Given the description of an element on the screen output the (x, y) to click on. 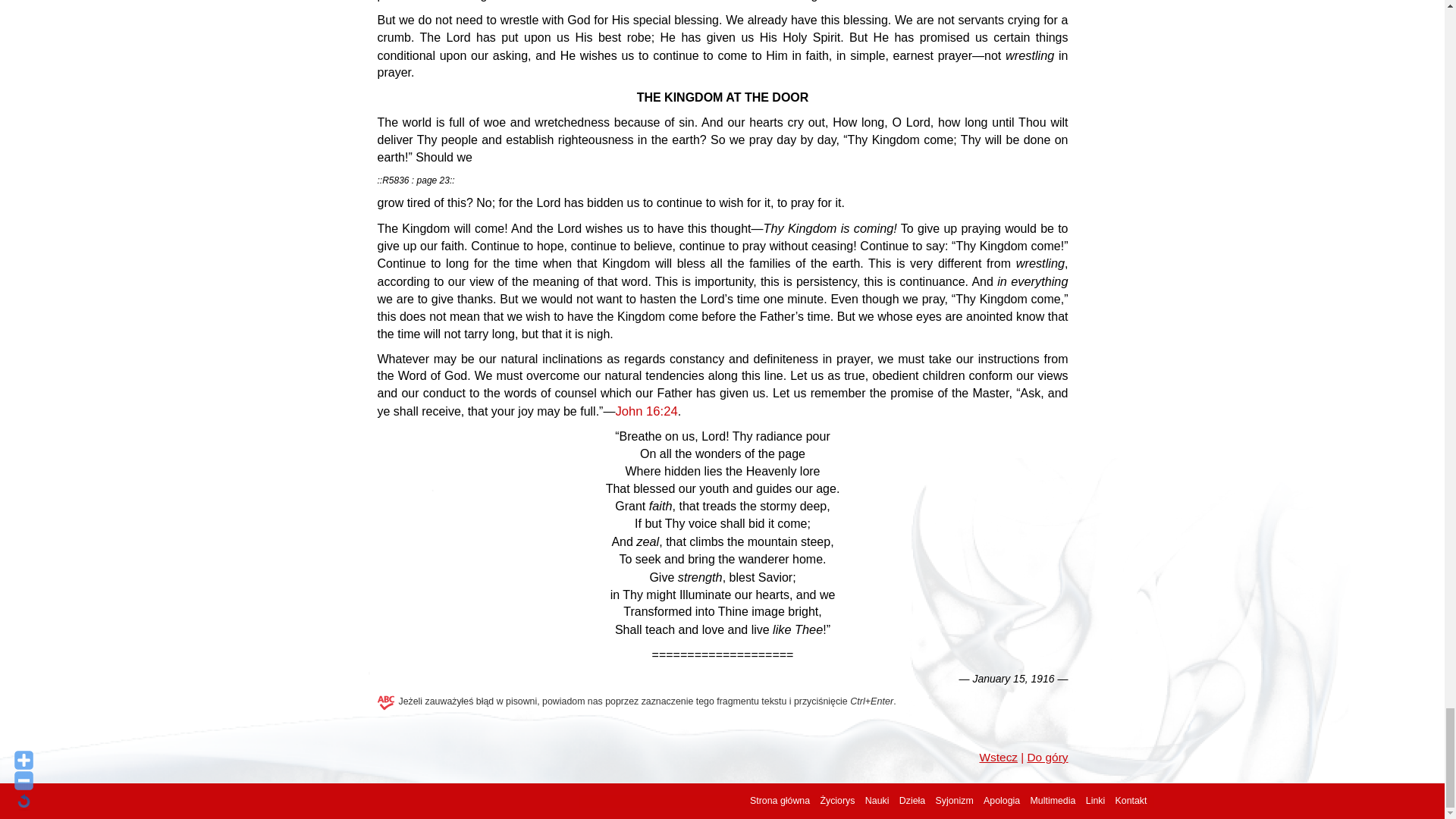
Wstecz (997, 757)
Kontakt (1131, 800)
Multimedia (1052, 800)
Syjonizm (955, 800)
Nauki (876, 800)
Linki (1095, 800)
Apologia (1002, 800)
